Given the description of an element on the screen output the (x, y) to click on. 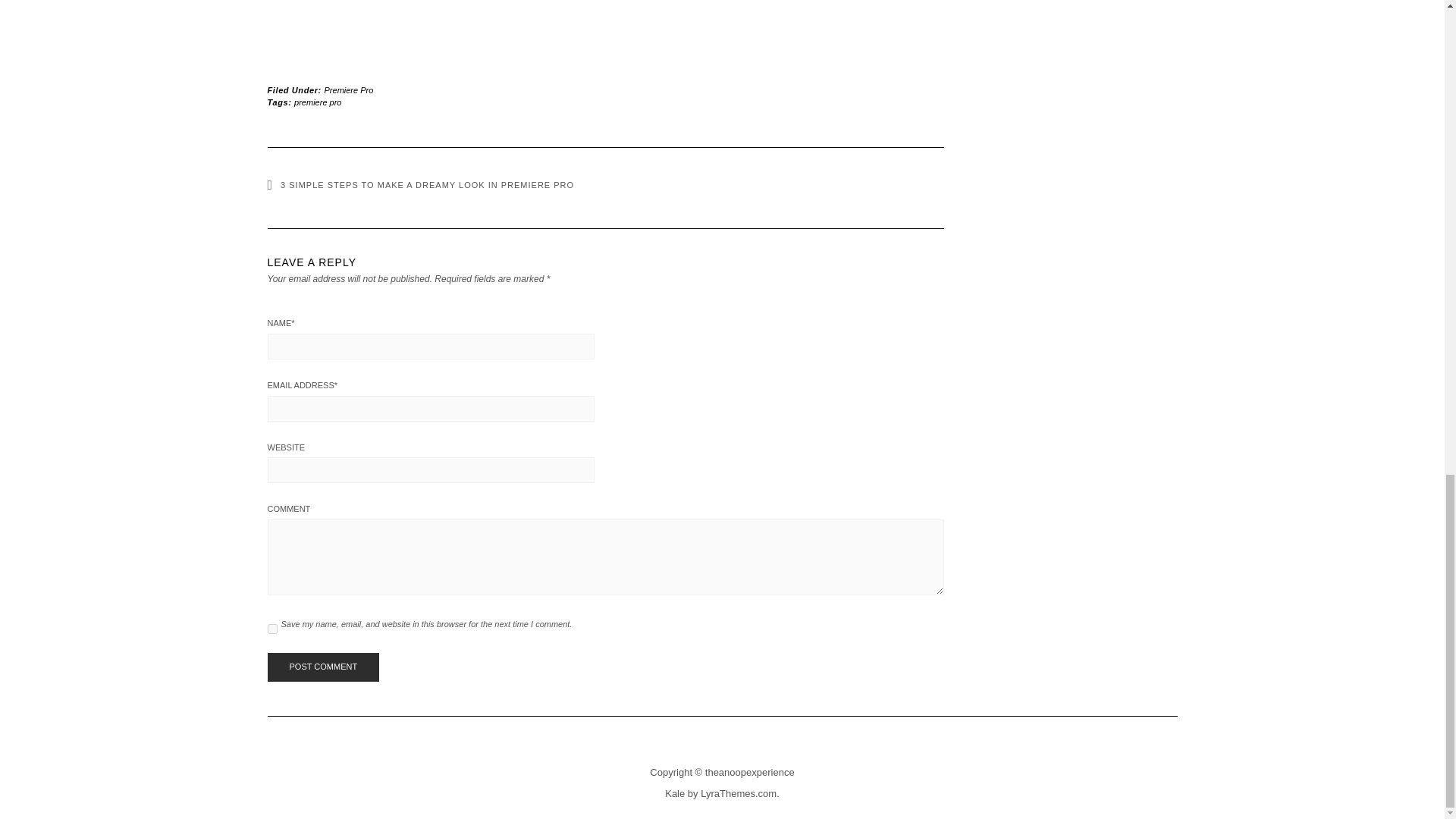
Premiere Pro (349, 90)
yes (271, 628)
Post Comment (322, 666)
Post Comment (322, 666)
premiere pro (317, 102)
3 SIMPLE STEPS TO MAKE A DREAMY LOOK IN PREMIERE PRO (419, 184)
Kale (674, 793)
